Given the description of an element on the screen output the (x, y) to click on. 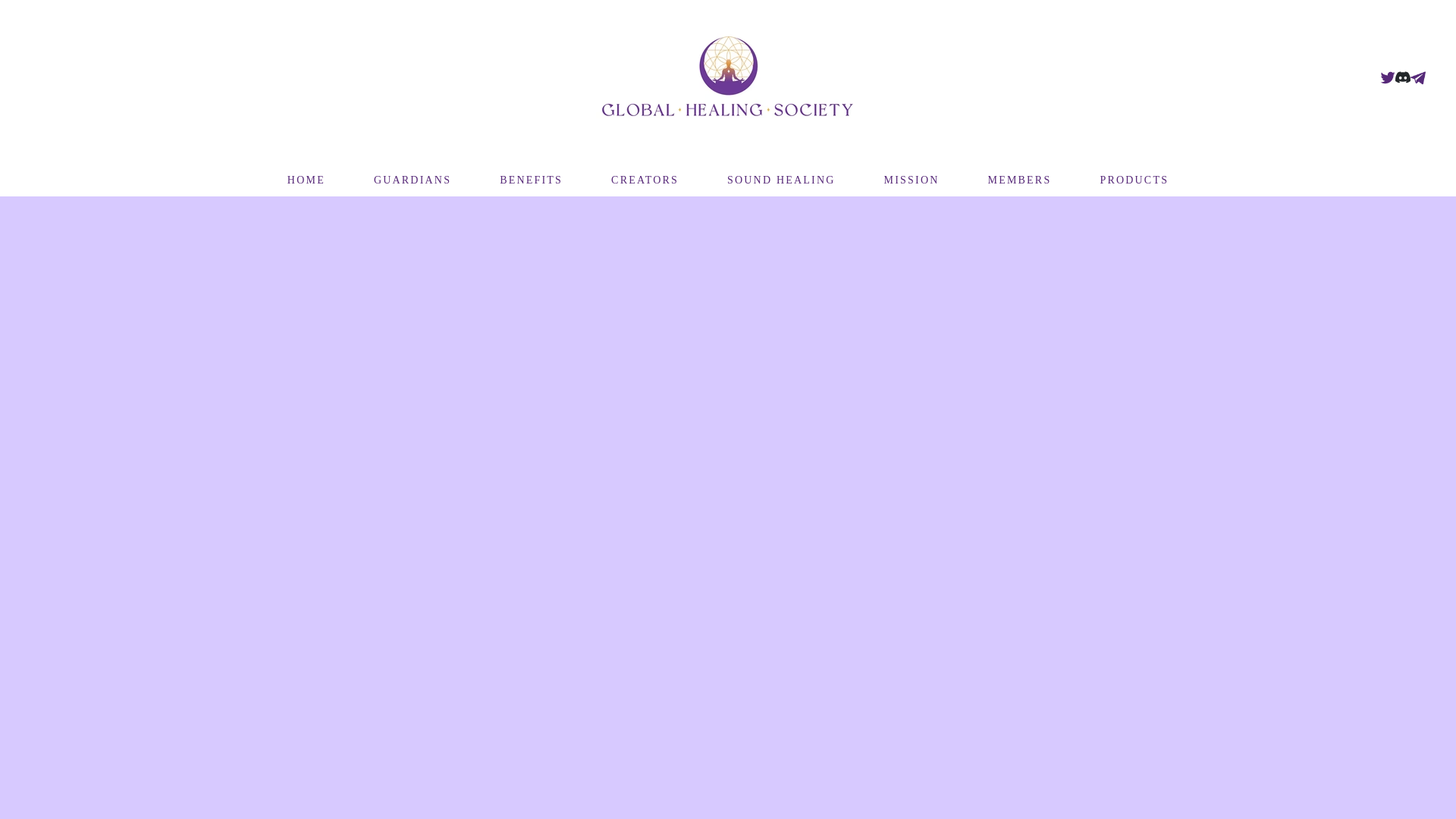
HOME (306, 180)
CREATORS (644, 180)
GUARDIANS (412, 180)
PRODUCTS (1133, 180)
MEMBERS (1019, 180)
MISSION (911, 180)
BENEFITS (531, 180)
SOUND HEALING (781, 180)
SKIP TO CONTENT (45, 16)
